Given the description of an element on the screen output the (x, y) to click on. 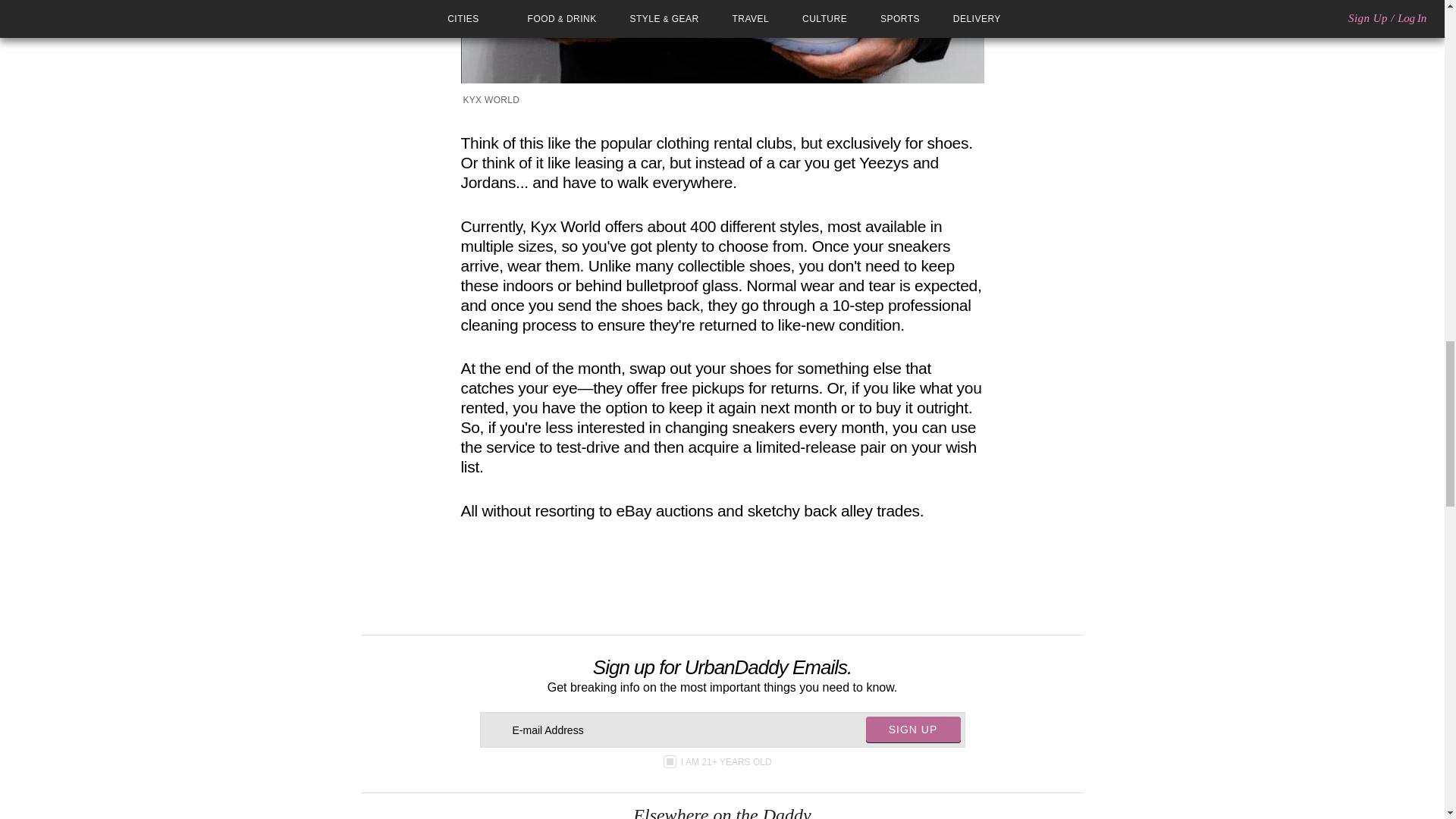
kyx world shoes (722, 41)
Save (755, 571)
SIGN UP (913, 729)
Pinterest (732, 571)
